Given the description of an element on the screen output the (x, y) to click on. 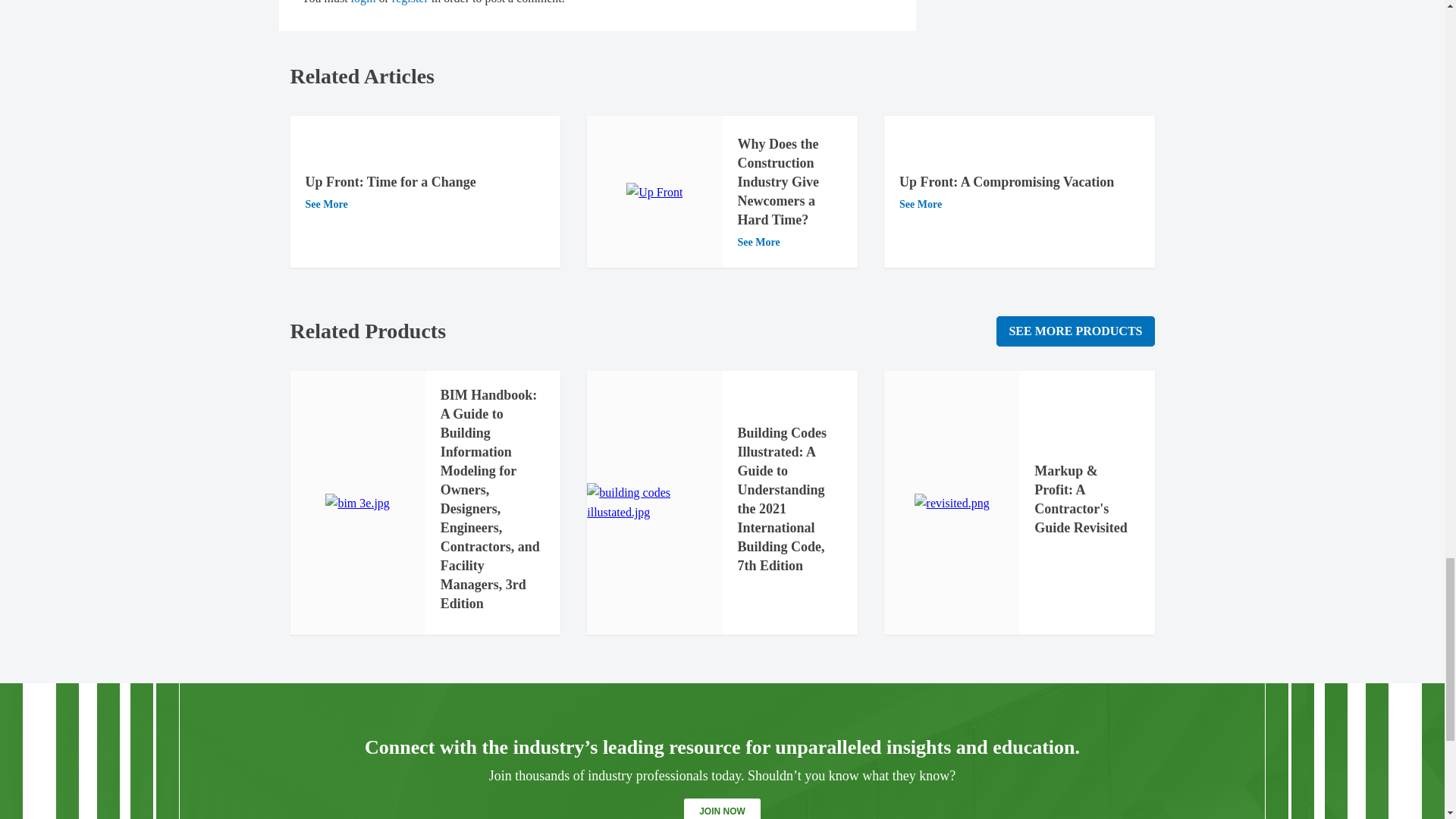
WC-2015-default-UpFront.jpg (654, 192)
bim 3e.jpg (356, 503)
revisited.png (952, 503)
building codes illustated.jpg (654, 503)
